Given the description of an element on the screen output the (x, y) to click on. 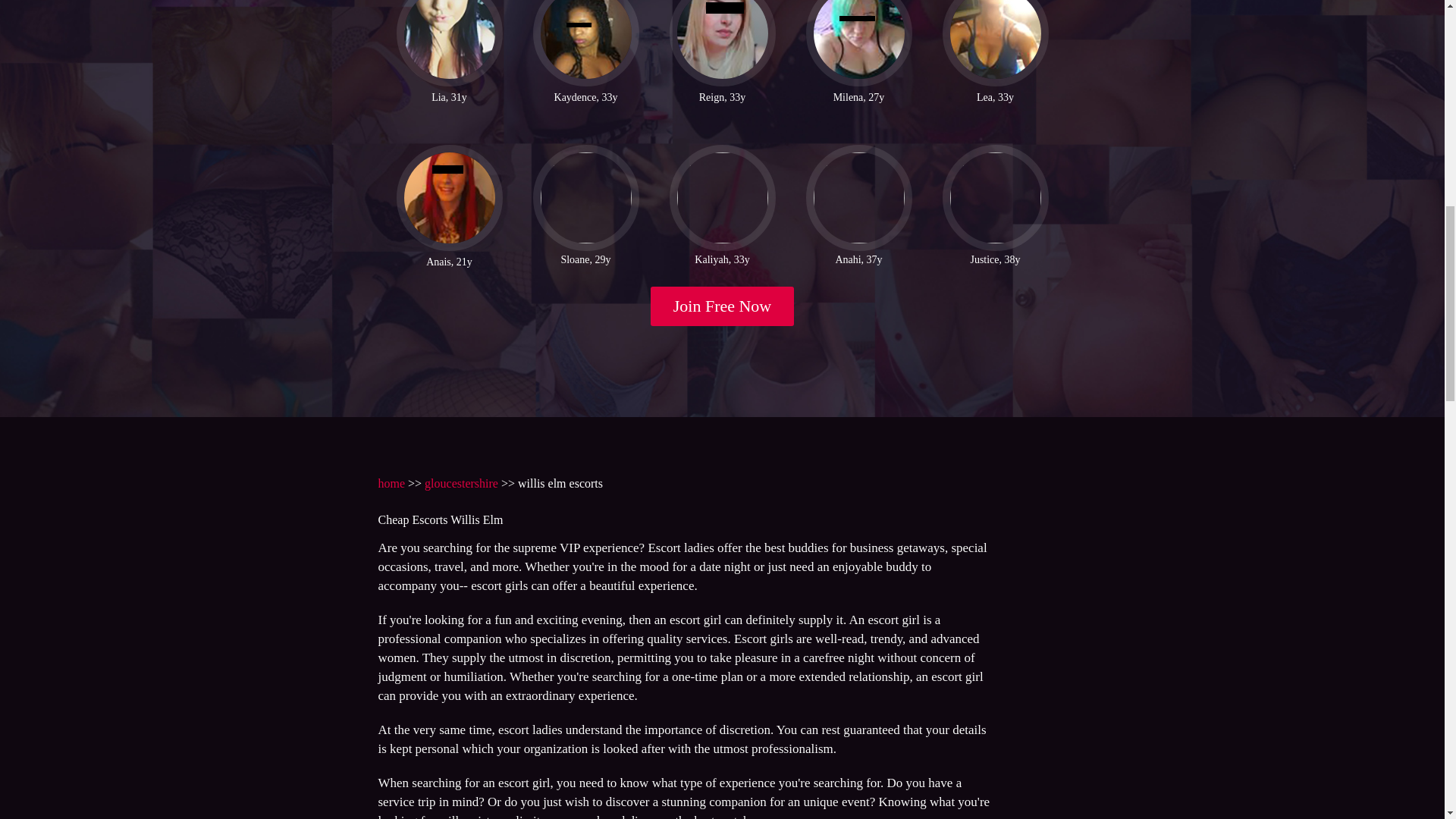
home (390, 482)
Join Free Now (722, 305)
gloucestershire (461, 482)
Join (722, 305)
